Given the description of an element on the screen output the (x, y) to click on. 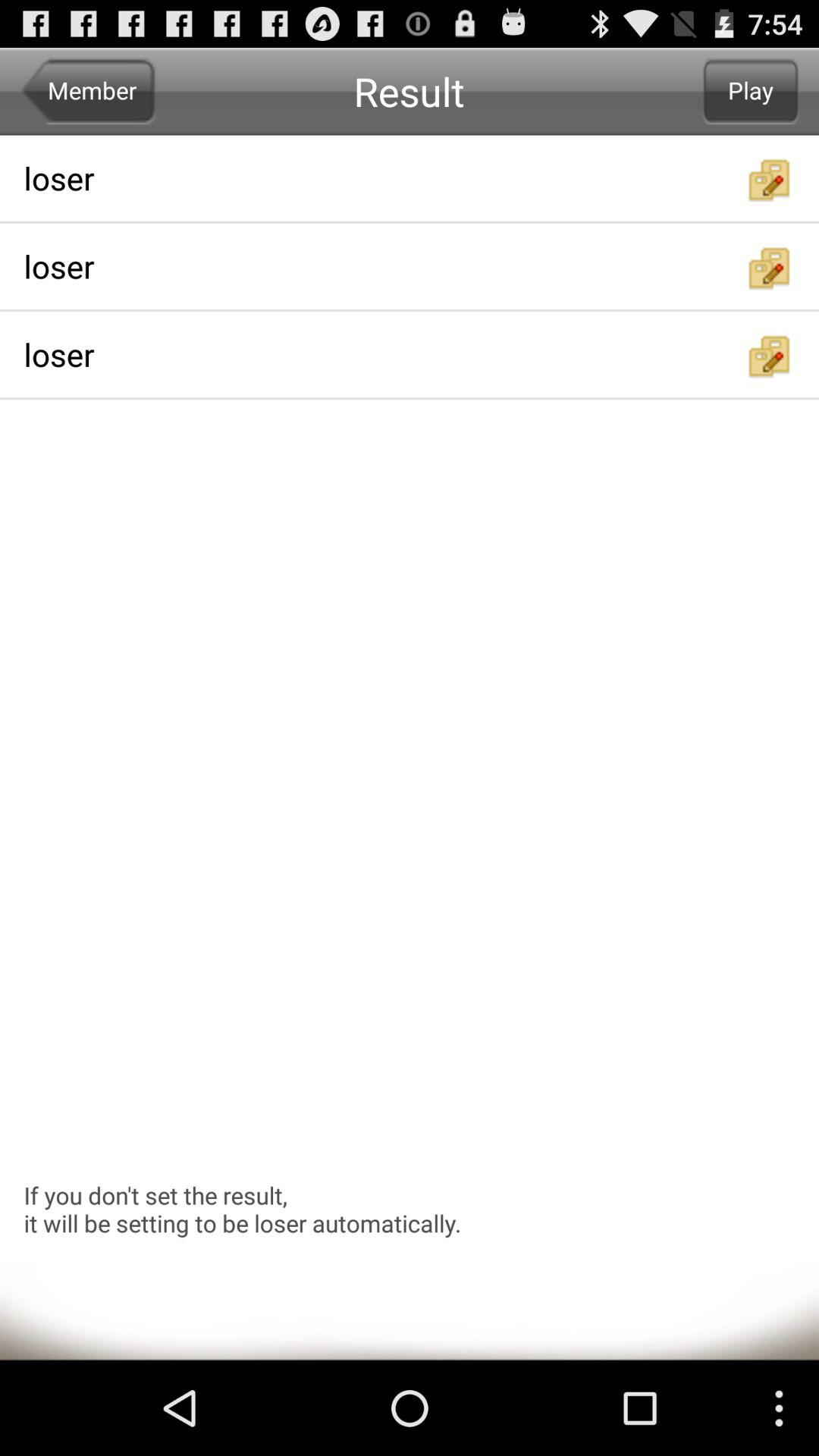
copy (770, 179)
